Given the description of an element on the screen output the (x, y) to click on. 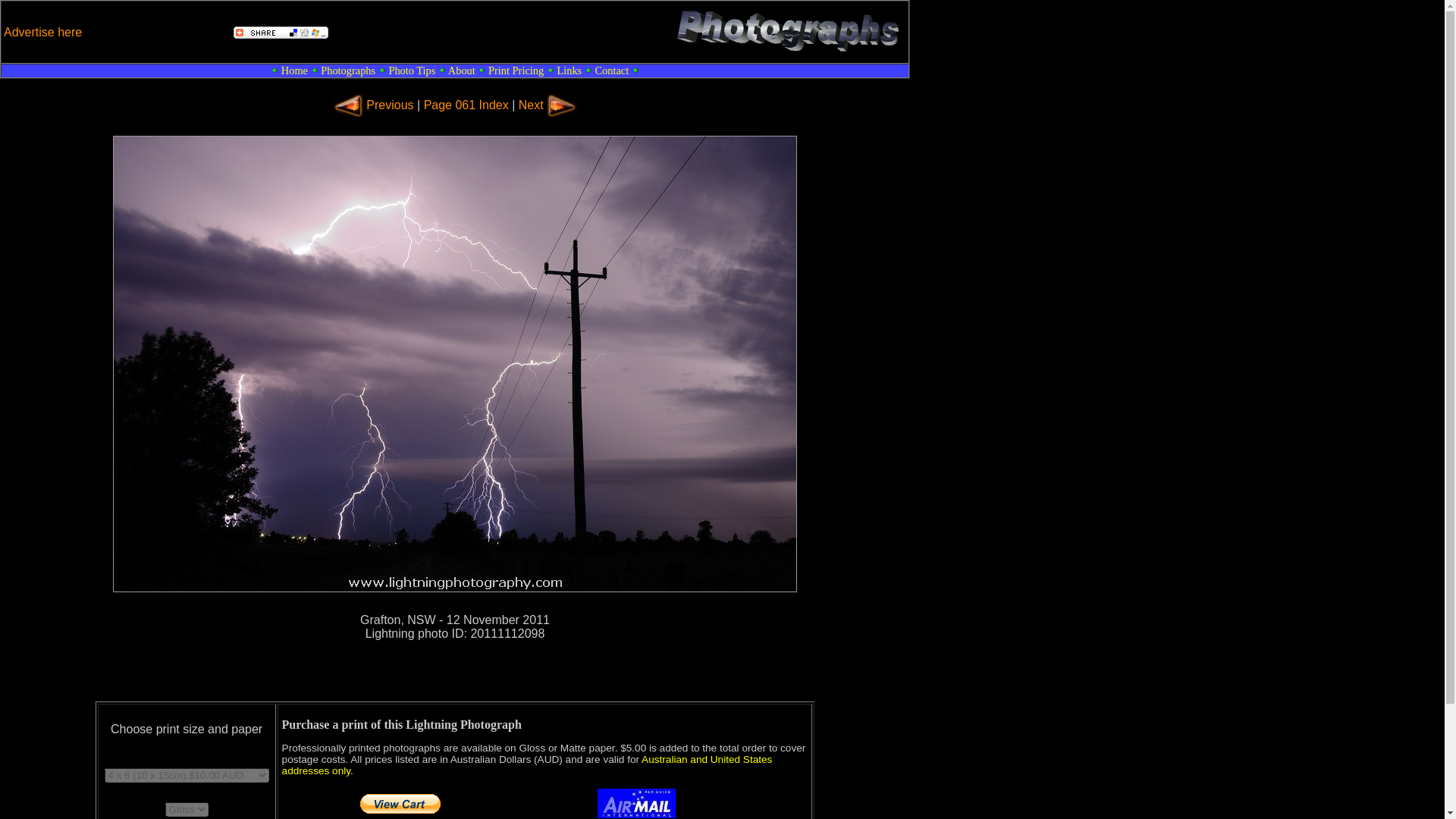
Photo Tips (411, 70)
Home (294, 70)
Previous (389, 104)
Photographs (347, 70)
Next (530, 104)
Links (568, 70)
Advertise here (42, 31)
Print Pricing (515, 70)
About (462, 70)
Page 061 Index (465, 104)
Contact (611, 70)
